Given the description of an element on the screen output the (x, y) to click on. 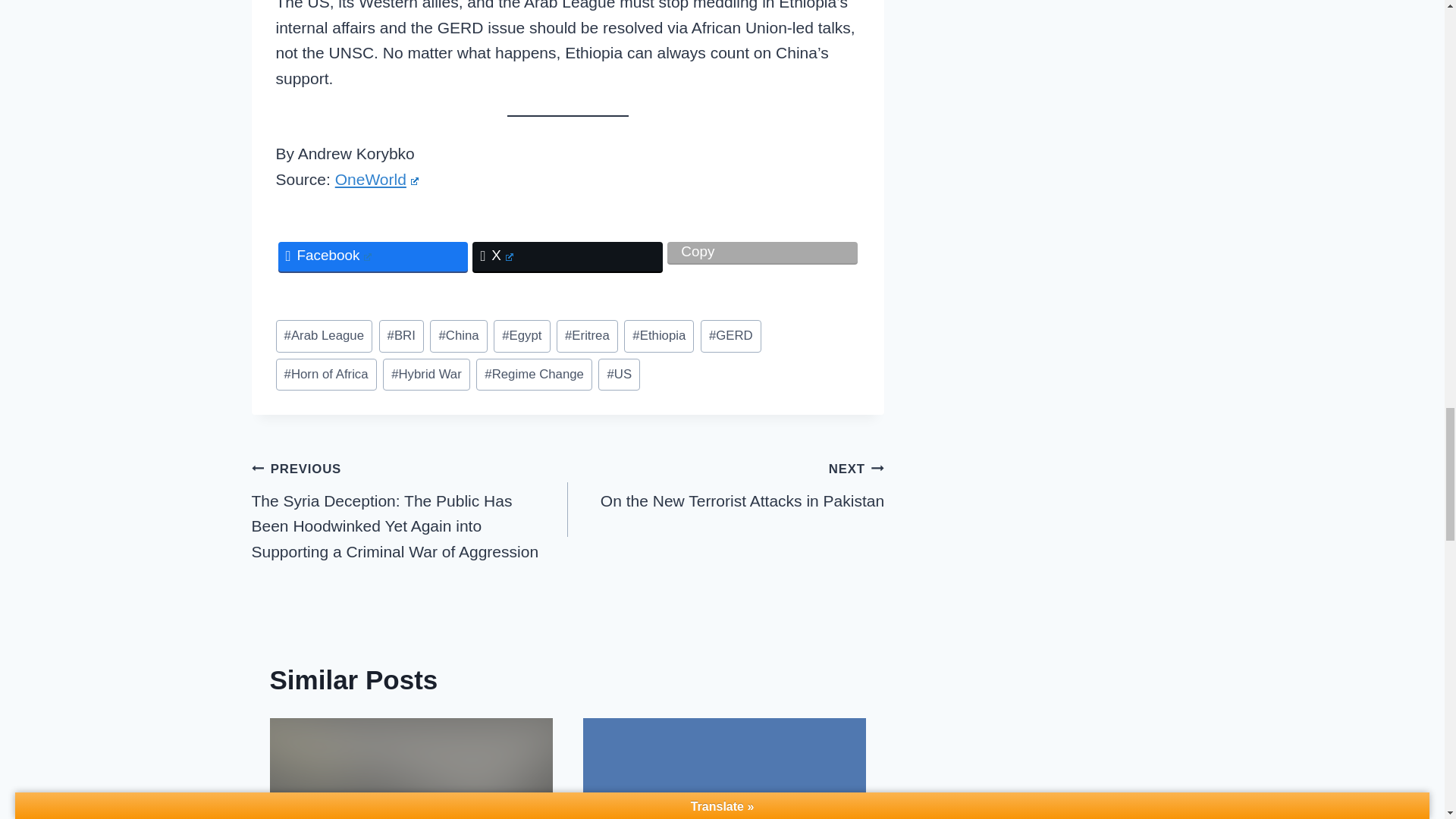
Copy (761, 251)
BRI (400, 336)
Ethiopia (659, 336)
Facebook (372, 256)
Arab League (324, 336)
OneWorld (376, 179)
Hybrid War (426, 374)
China (457, 336)
GERD (730, 336)
X (566, 256)
